Given the description of an element on the screen output the (x, y) to click on. 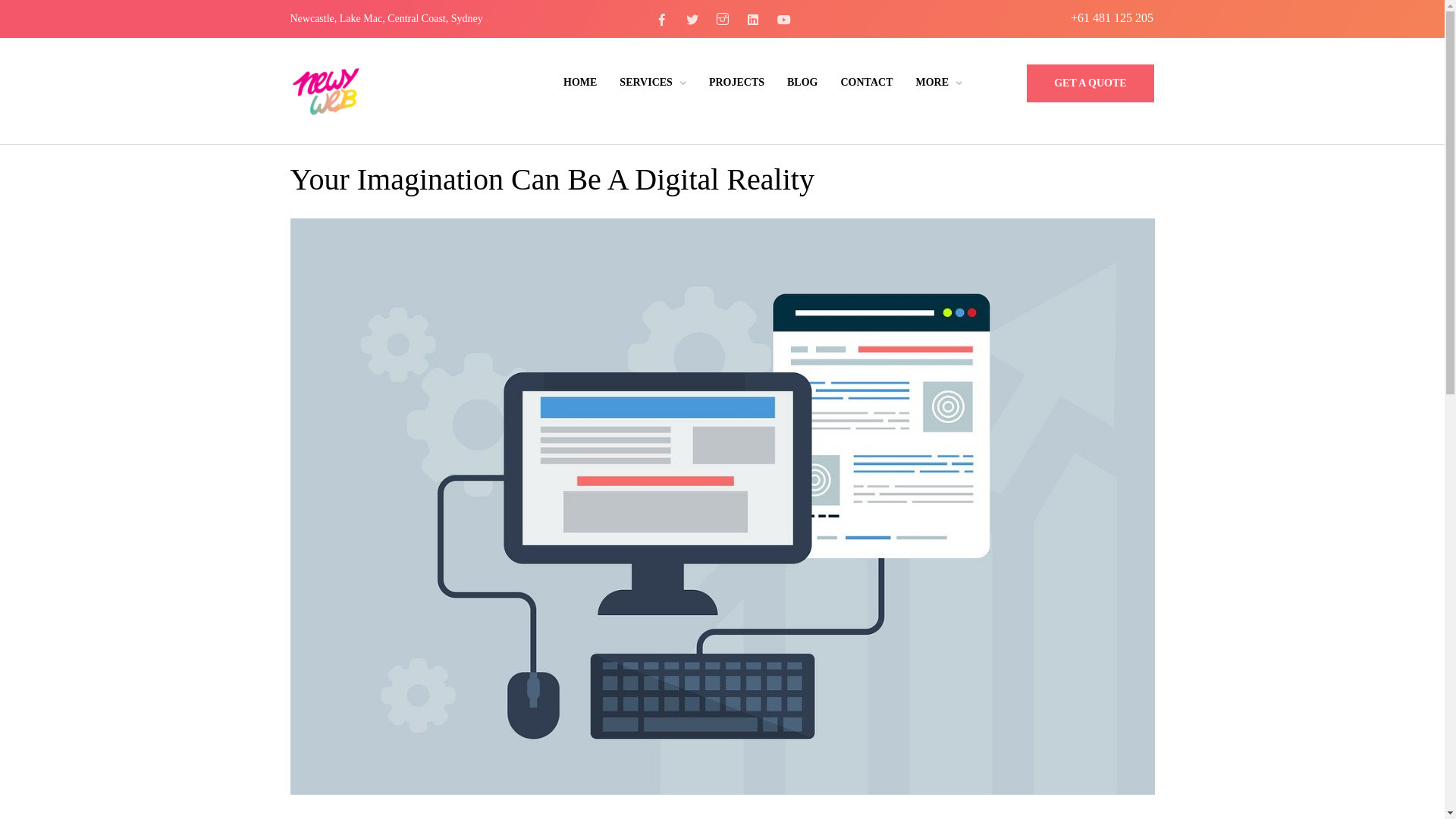
GET A QUOTE Element type: text (1089, 83)
MORE Element type: text (938, 81)
PROJECTS Element type: text (736, 81)
+61 481 125 205 Element type: text (1111, 16)
SERVICES Element type: text (652, 81)
HOME Element type: text (579, 81)
CONTACT Element type: text (866, 81)
BLOG Element type: text (802, 81)
